Given the description of an element on the screen output the (x, y) to click on. 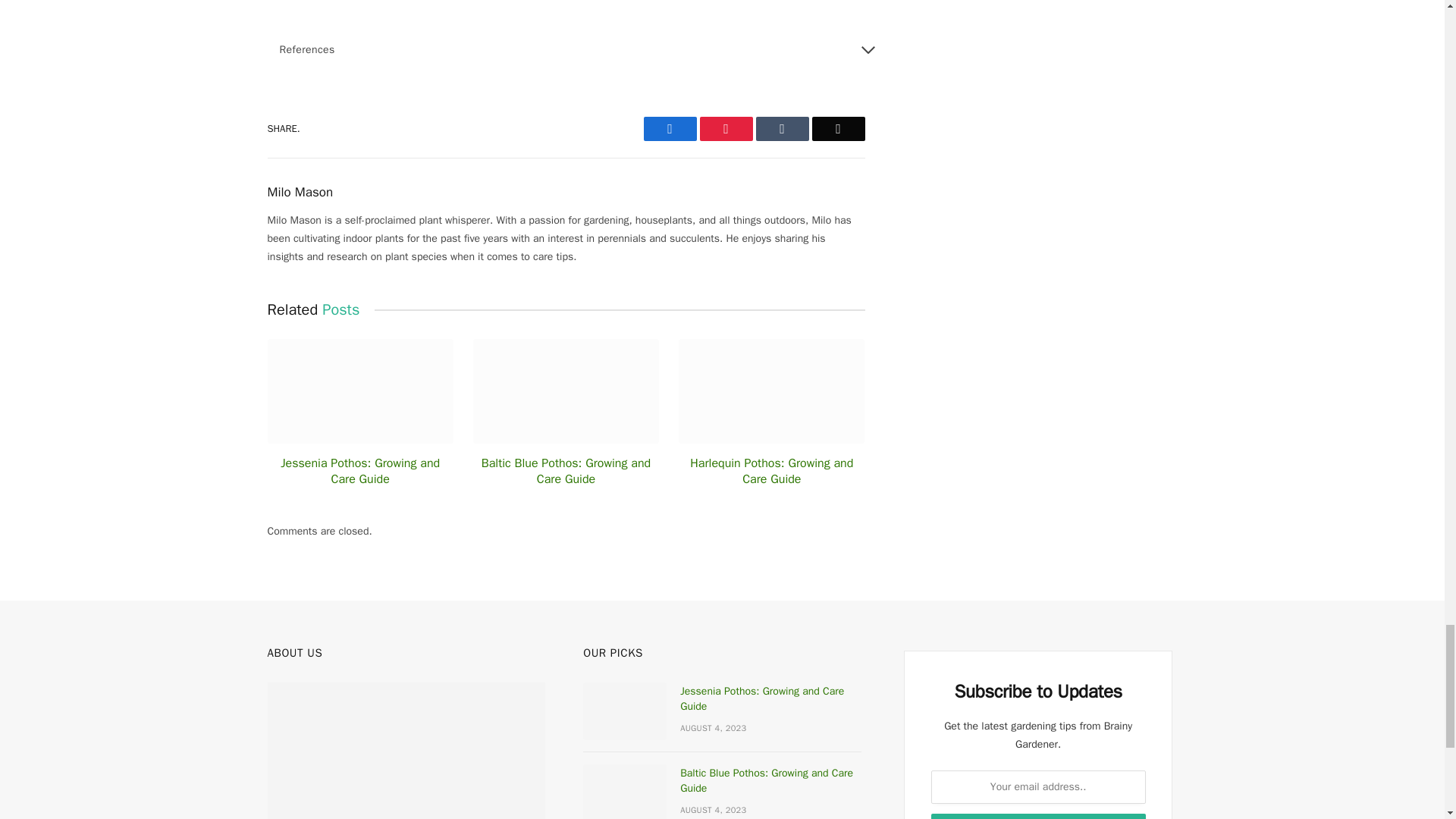
Jessenia Pothos: Growing and Care Guide (359, 471)
Subscribe (1038, 816)
Email (837, 128)
Pinterest (725, 128)
References (577, 50)
Milo Mason (299, 192)
Tumblr (781, 128)
Facebook (669, 128)
